Given the description of an element on the screen output the (x, y) to click on. 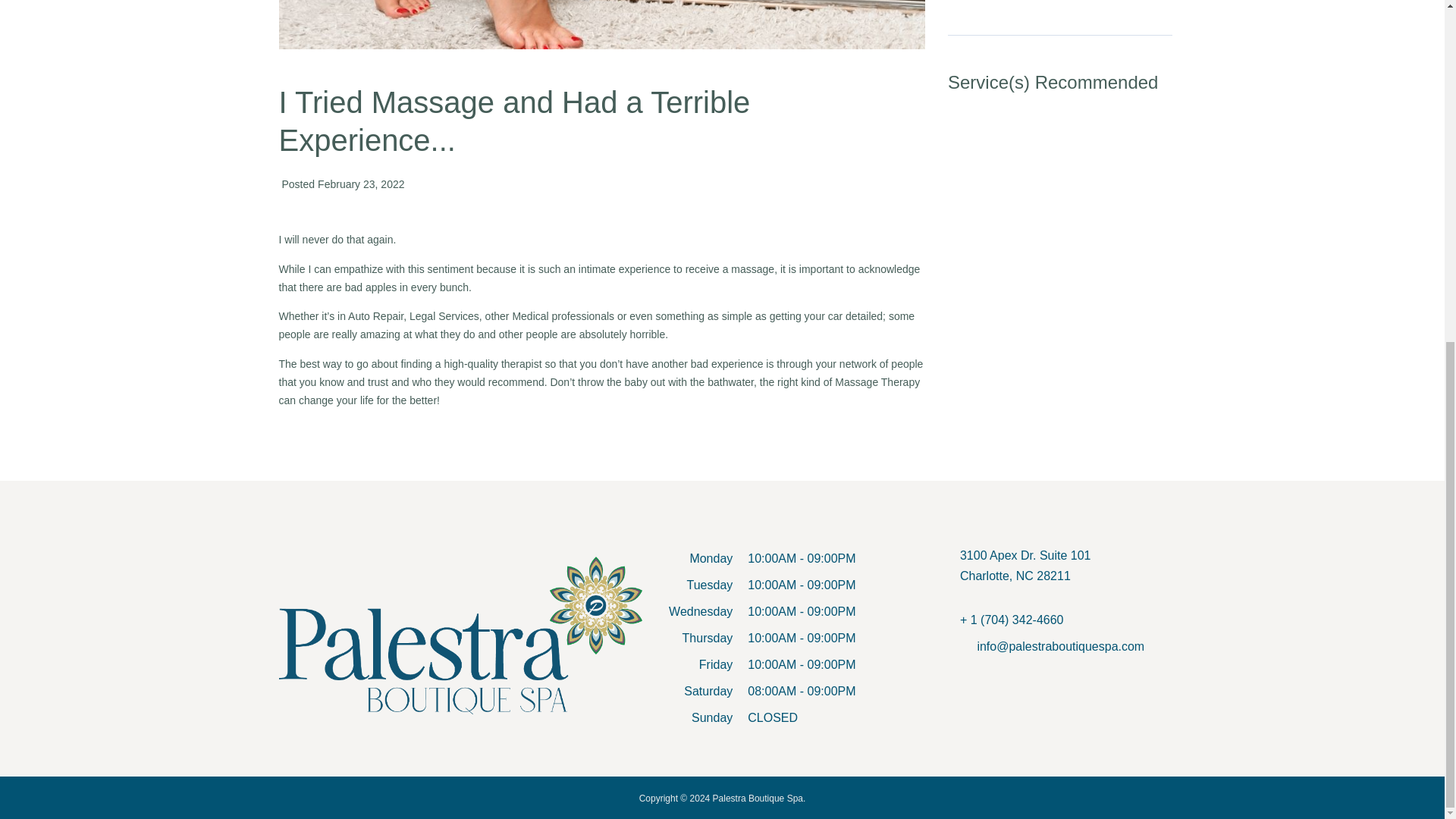
February 23, 2022 (1024, 575)
